Given the description of an element on the screen output the (x, y) to click on. 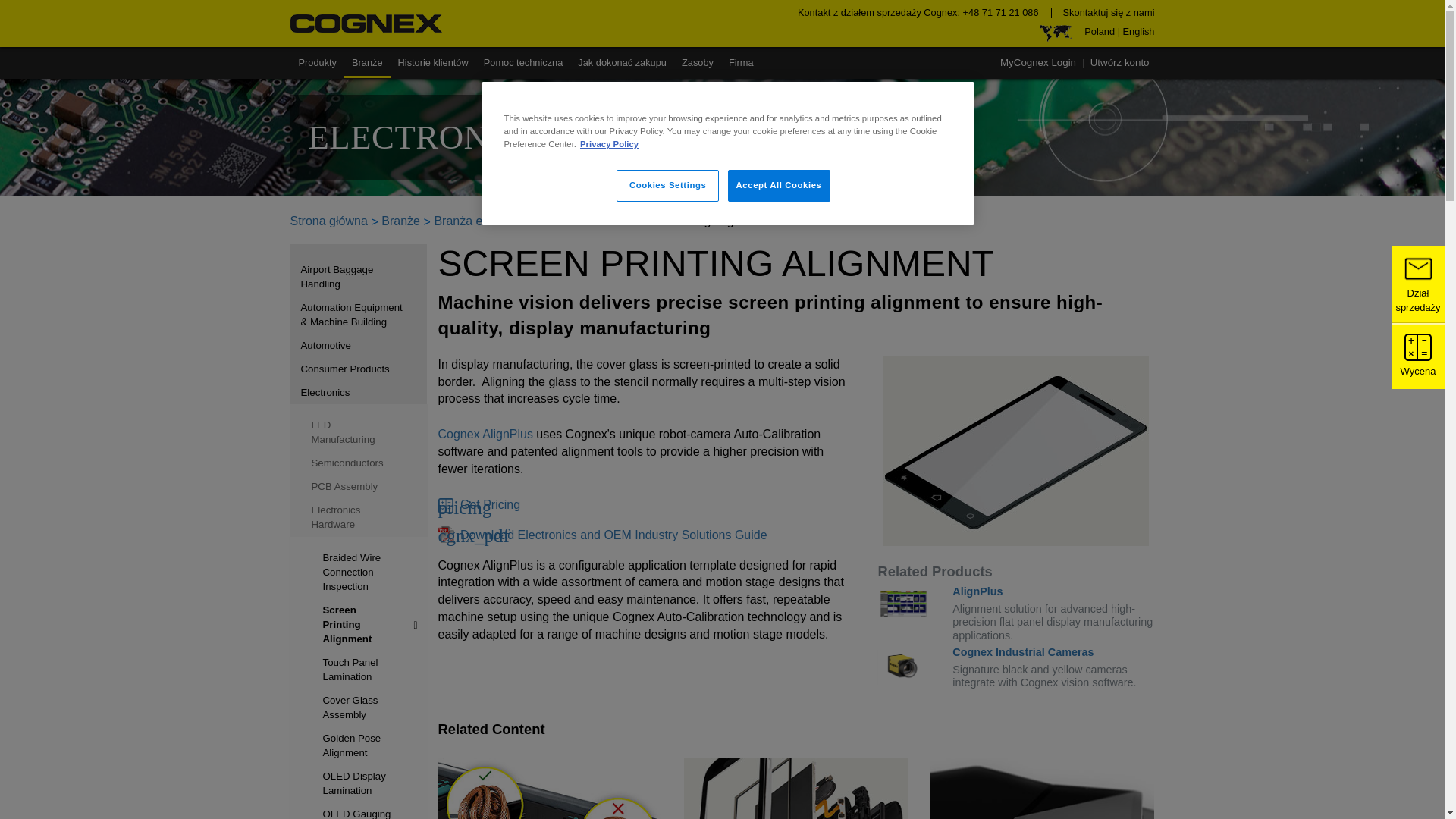
Produkty (318, 62)
